Given the description of an element on the screen output the (x, y) to click on. 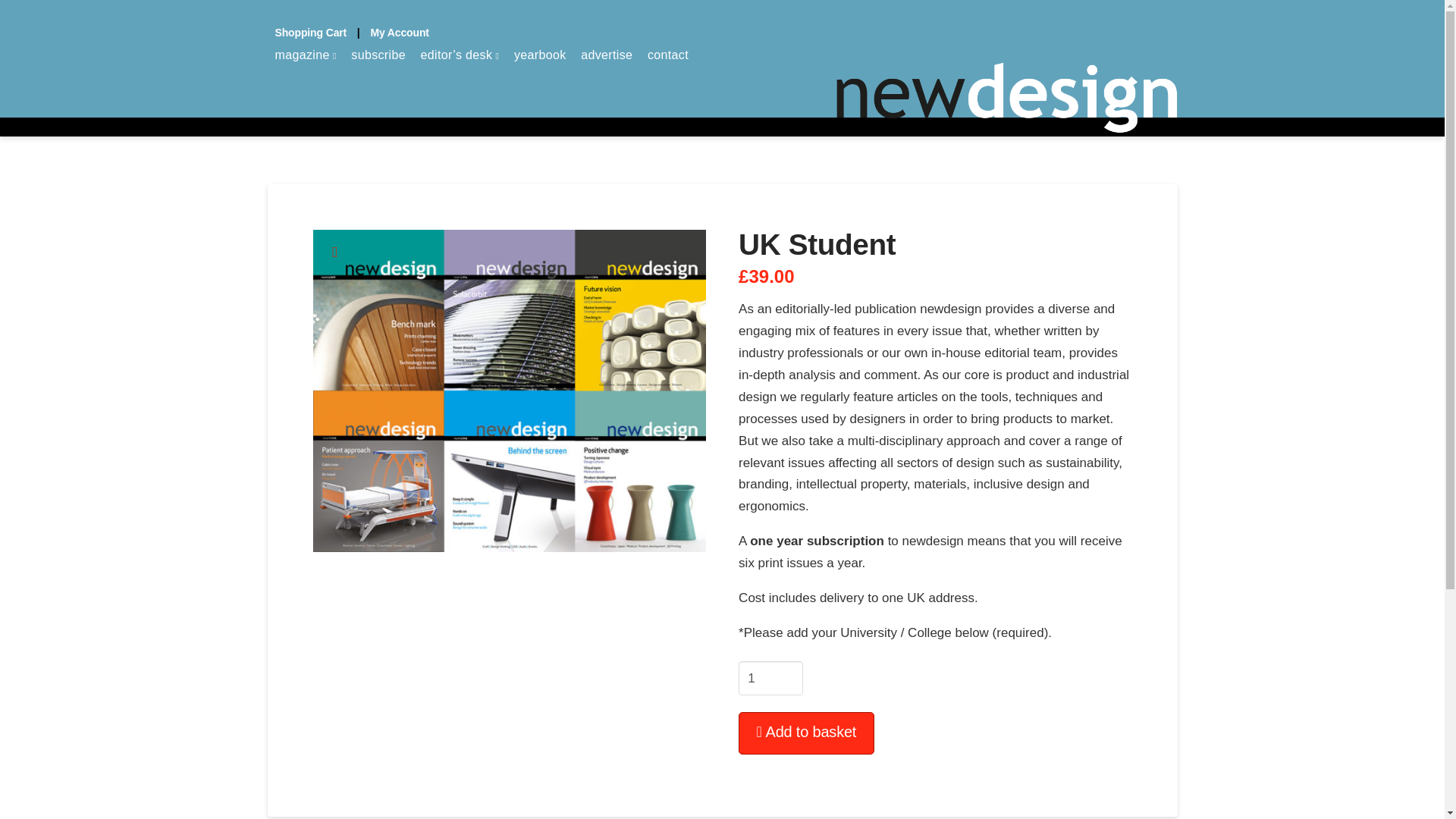
My Account (398, 32)
subscriptions (508, 391)
Add to basket (806, 732)
advertise (606, 83)
Shopping Cart (310, 32)
1 (770, 677)
yearbook (539, 83)
subscribe (377, 83)
magazine (304, 83)
